Given the description of an element on the screen output the (x, y) to click on. 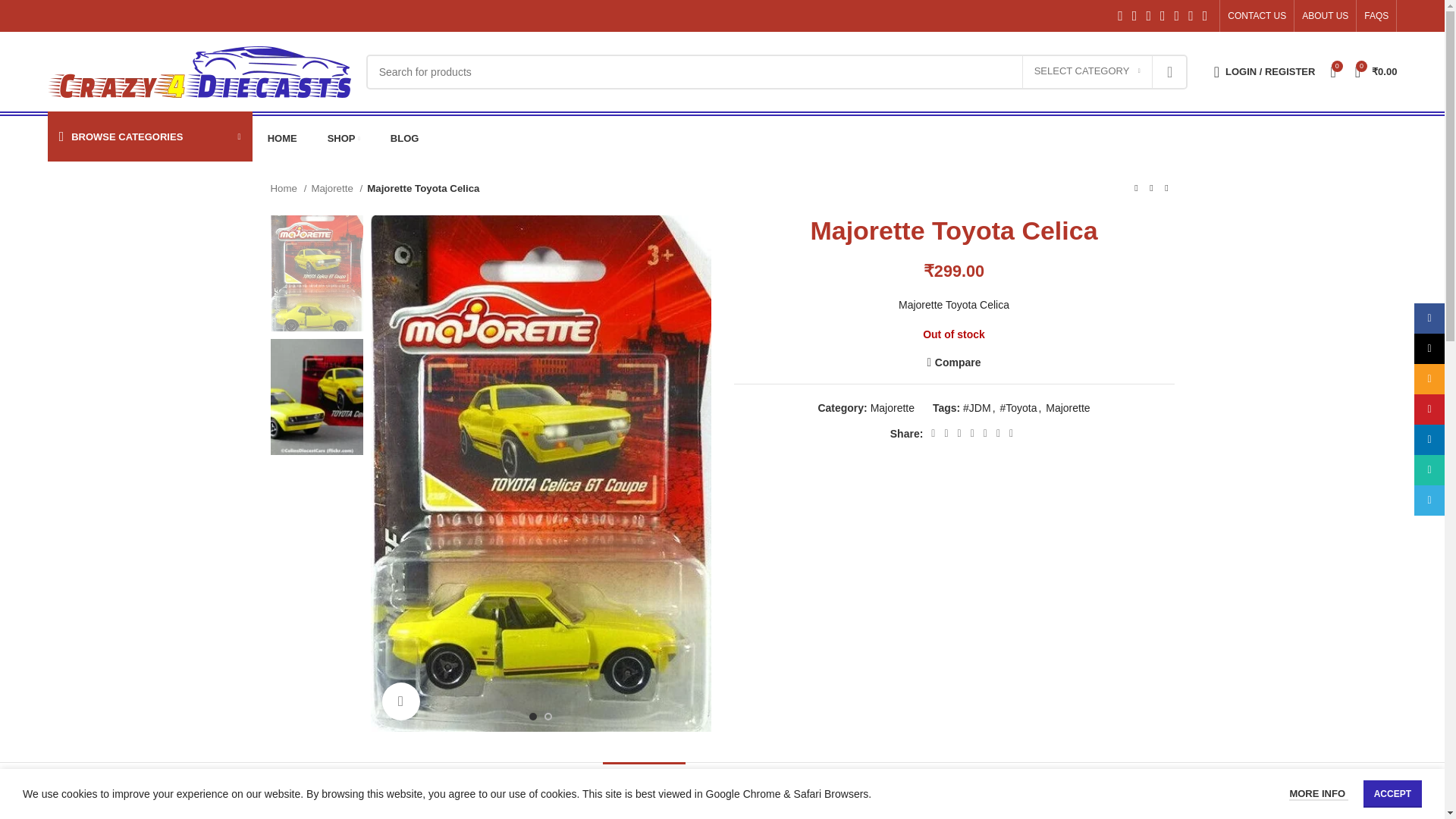
Search for products (777, 71)
CONTACT US (1256, 15)
ABOUT US (1324, 15)
My account (1265, 71)
Shopping cart (1376, 71)
Compare products (1332, 71)
FAQS (1376, 15)
SELECT CATEGORY (1087, 71)
SELECT CATEGORY (1087, 71)
